Given the description of an element on the screen output the (x, y) to click on. 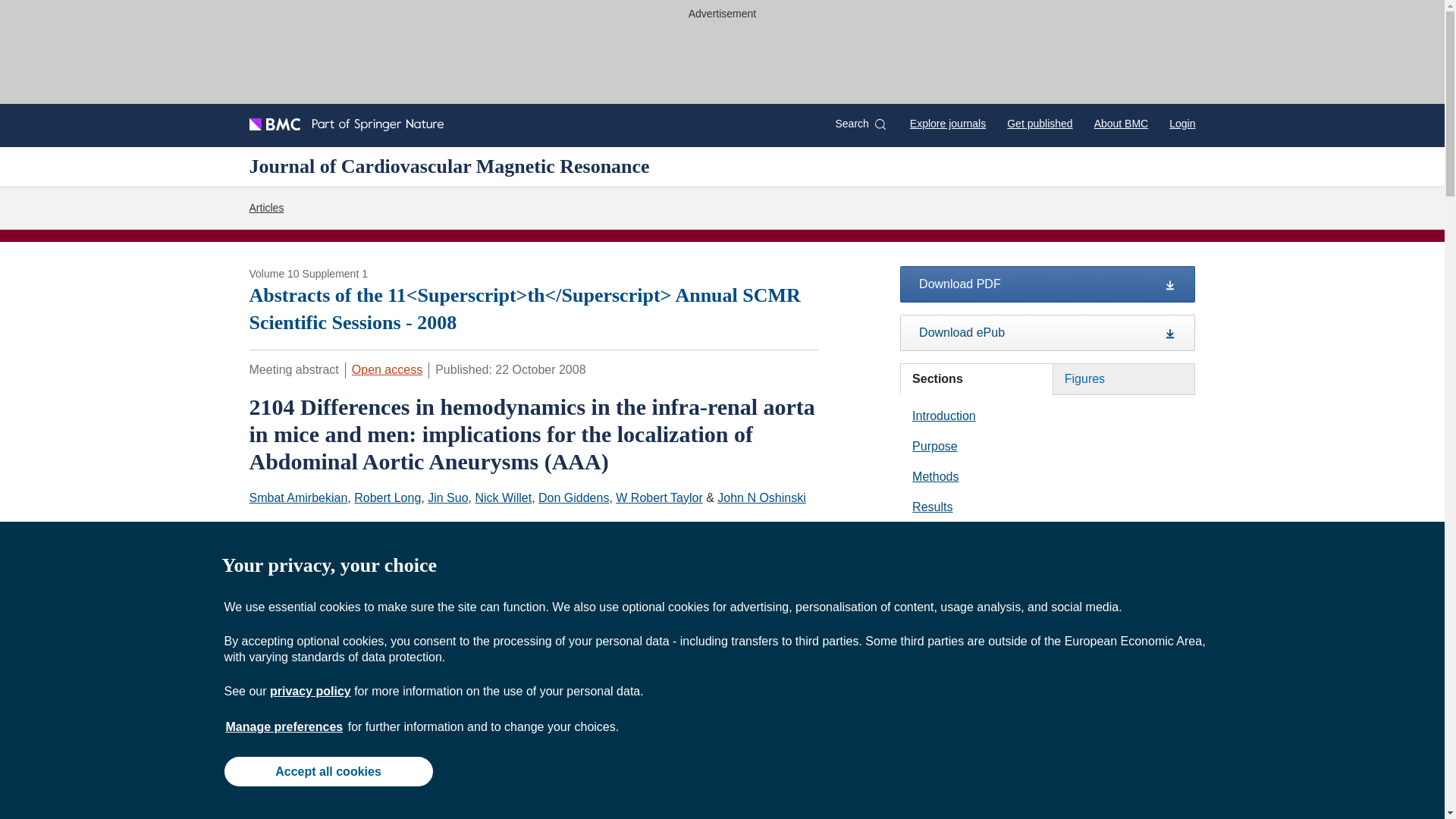
W Robert Taylor (658, 497)
Smbat Amirbekian (297, 497)
Explore journals (947, 123)
Get published (1039, 123)
Jin Suo (447, 497)
Journal of Cardiovascular Magnetic Resonance (448, 166)
Journal of Cardiovascular Magnetic Resonance (375, 528)
Articles (265, 208)
Manage preferences (284, 726)
privacy policy (309, 690)
Login (1182, 123)
Robert Long (386, 497)
John N Oshinski (761, 497)
Nick Willet (502, 497)
